Given the description of an element on the screen output the (x, y) to click on. 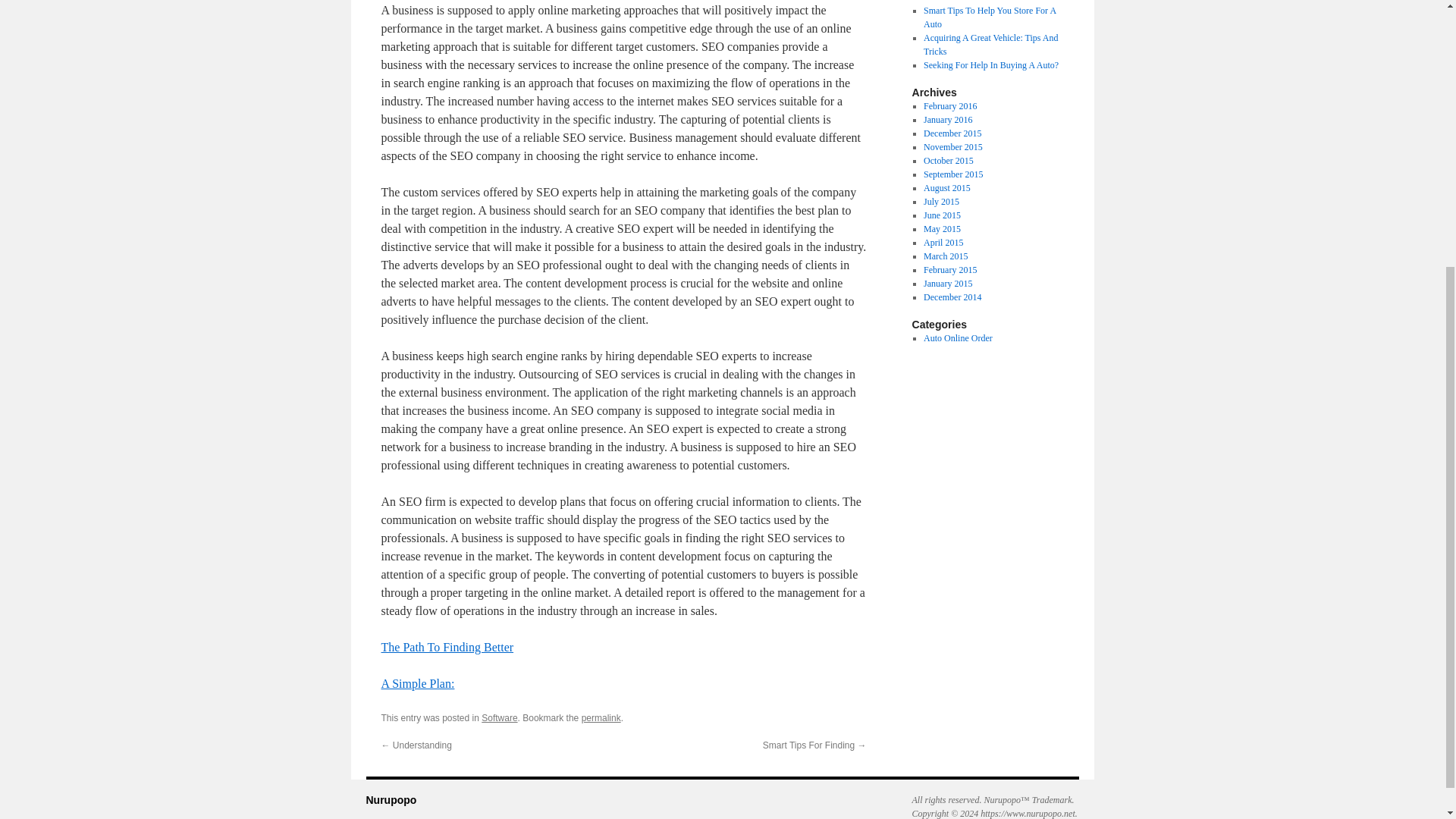
Acquiring A Great Vehicle: Tips And Tricks (990, 44)
April 2015 (942, 242)
June 2015 (941, 214)
Nurupopo (390, 799)
permalink (600, 717)
July 2015 (941, 201)
September 2015 (952, 173)
December 2014 (952, 296)
January 2015 (947, 283)
The Path To Finding Better (446, 646)
Smart Tips To Help You Store For A Auto (989, 16)
February 2016 (949, 105)
Software (498, 717)
Permalink to Lessons Learned from Years with (600, 717)
What To Know Just before Creating A Automobile Purchase (992, 1)
